Given the description of an element on the screen output the (x, y) to click on. 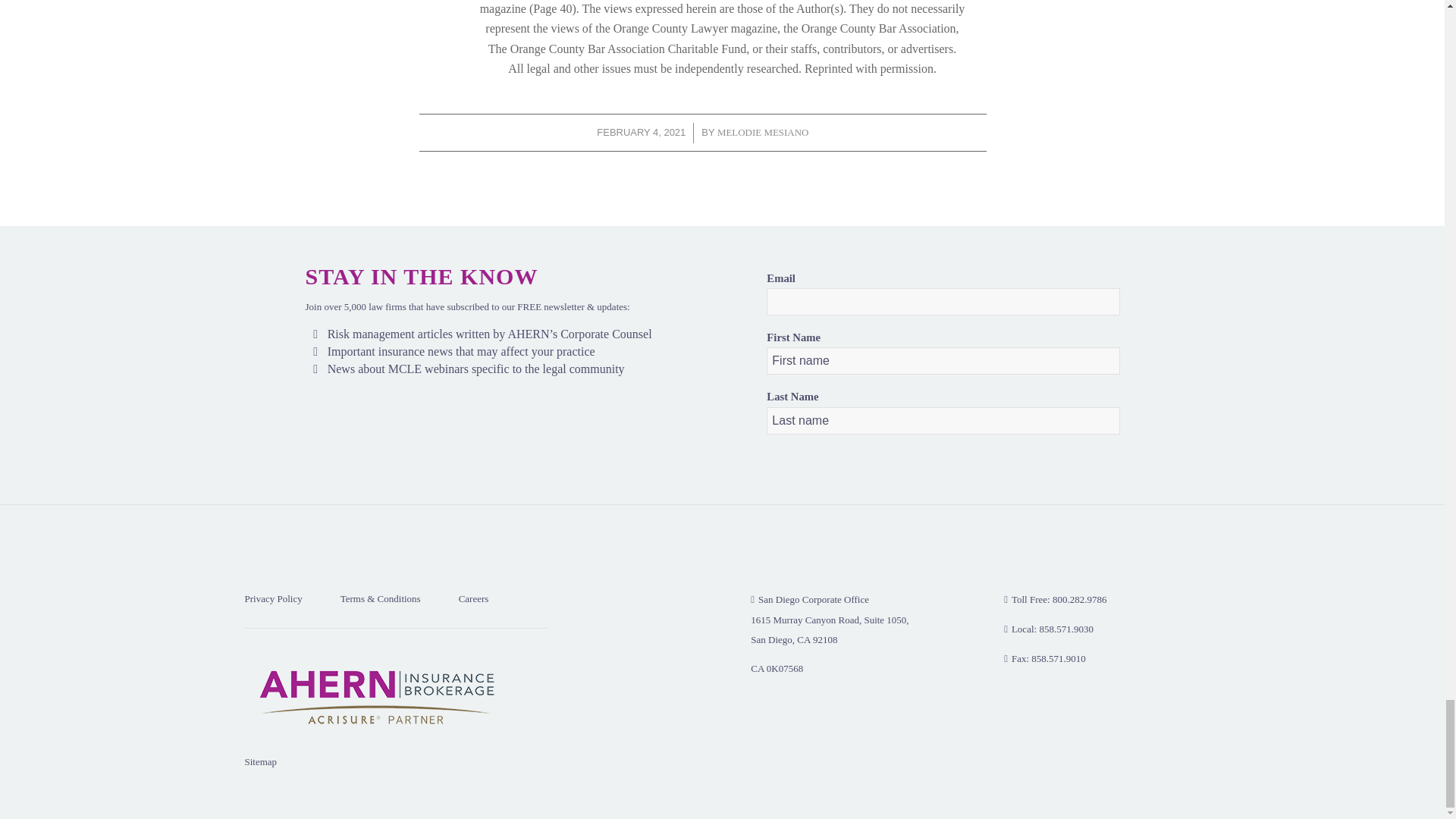
Local: 858.571.9030 (1048, 628)
Toll Free: 800.282.9786 (1055, 599)
Sitemap (260, 761)
MELODIE MESIANO (763, 132)
Careers (492, 598)
Privacy Policy (291, 598)
